Given the description of an element on the screen output the (x, y) to click on. 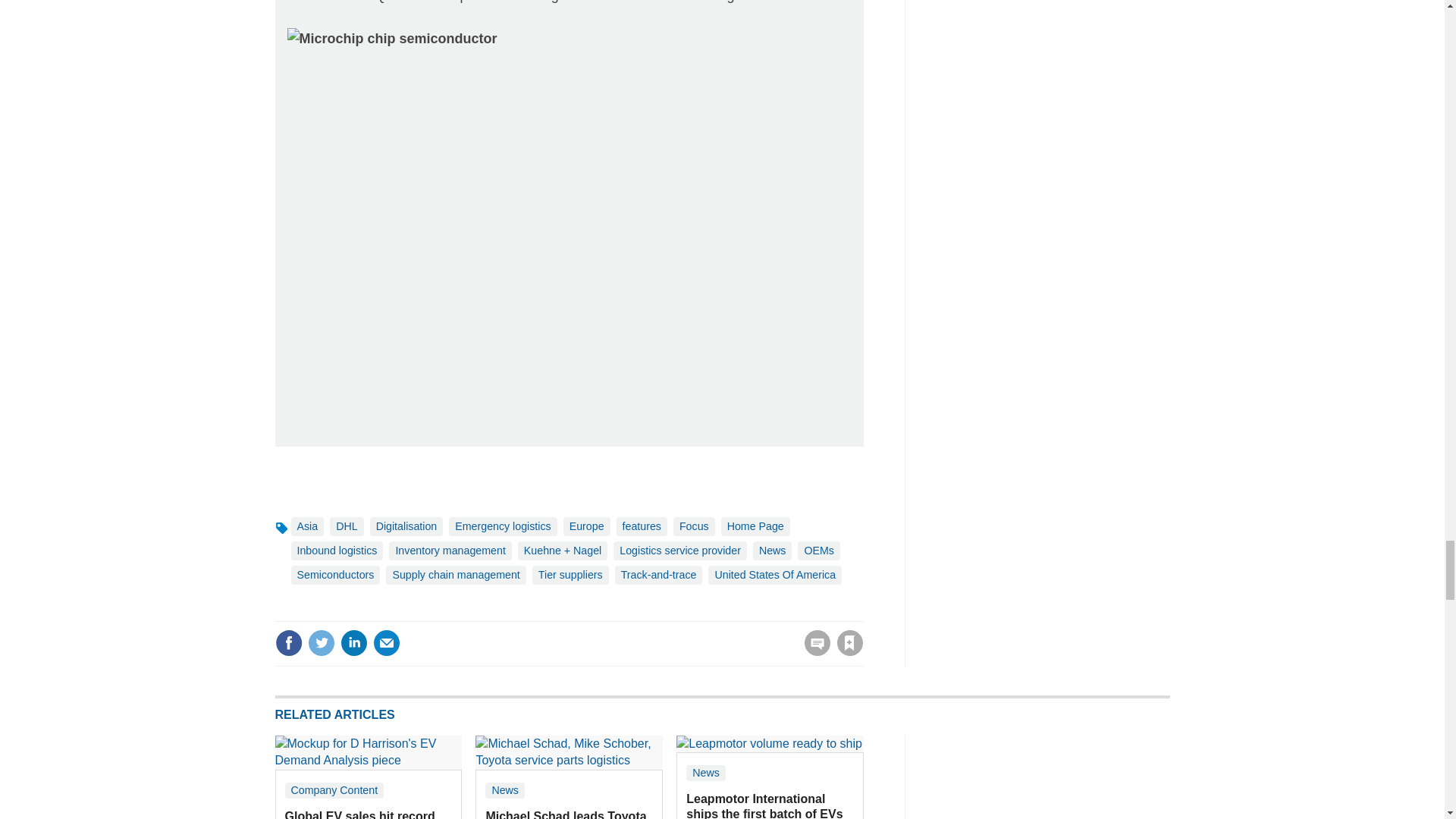
Share this on Facebook (288, 642)
3rd party ad content (1055, 777)
Share this on Twitter (320, 642)
Share this on Linked in (352, 642)
No comments (812, 652)
Email this article (386, 642)
